Given the description of an element on the screen output the (x, y) to click on. 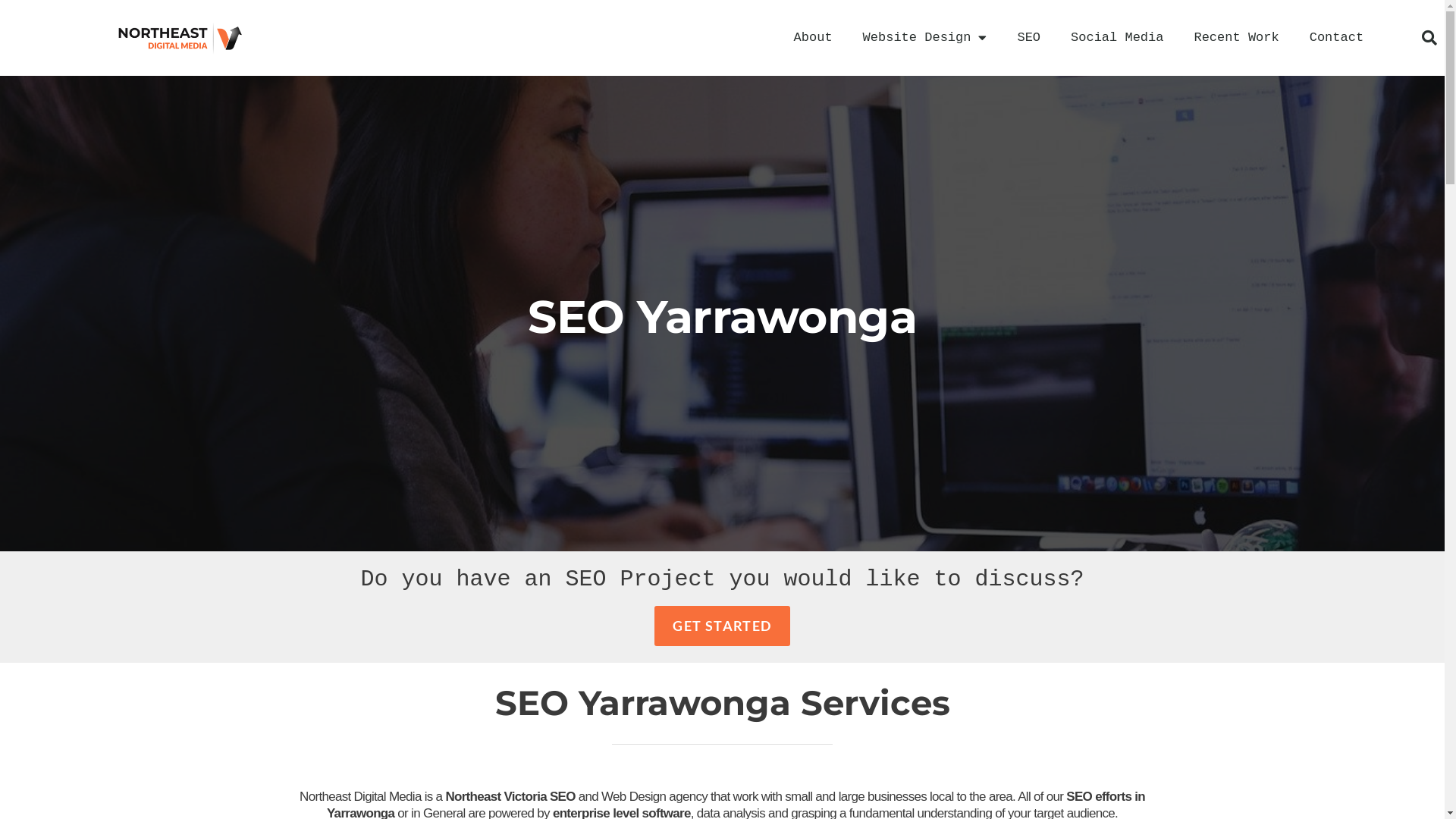
Website Design Element type: text (924, 37)
Recent Work Element type: text (1235, 37)
SEO Element type: text (1028, 37)
Contact Element type: text (1336, 37)
About Element type: text (812, 37)
Social Media Element type: text (1116, 37)
GET STARTED Element type: text (721, 625)
